Given the description of an element on the screen output the (x, y) to click on. 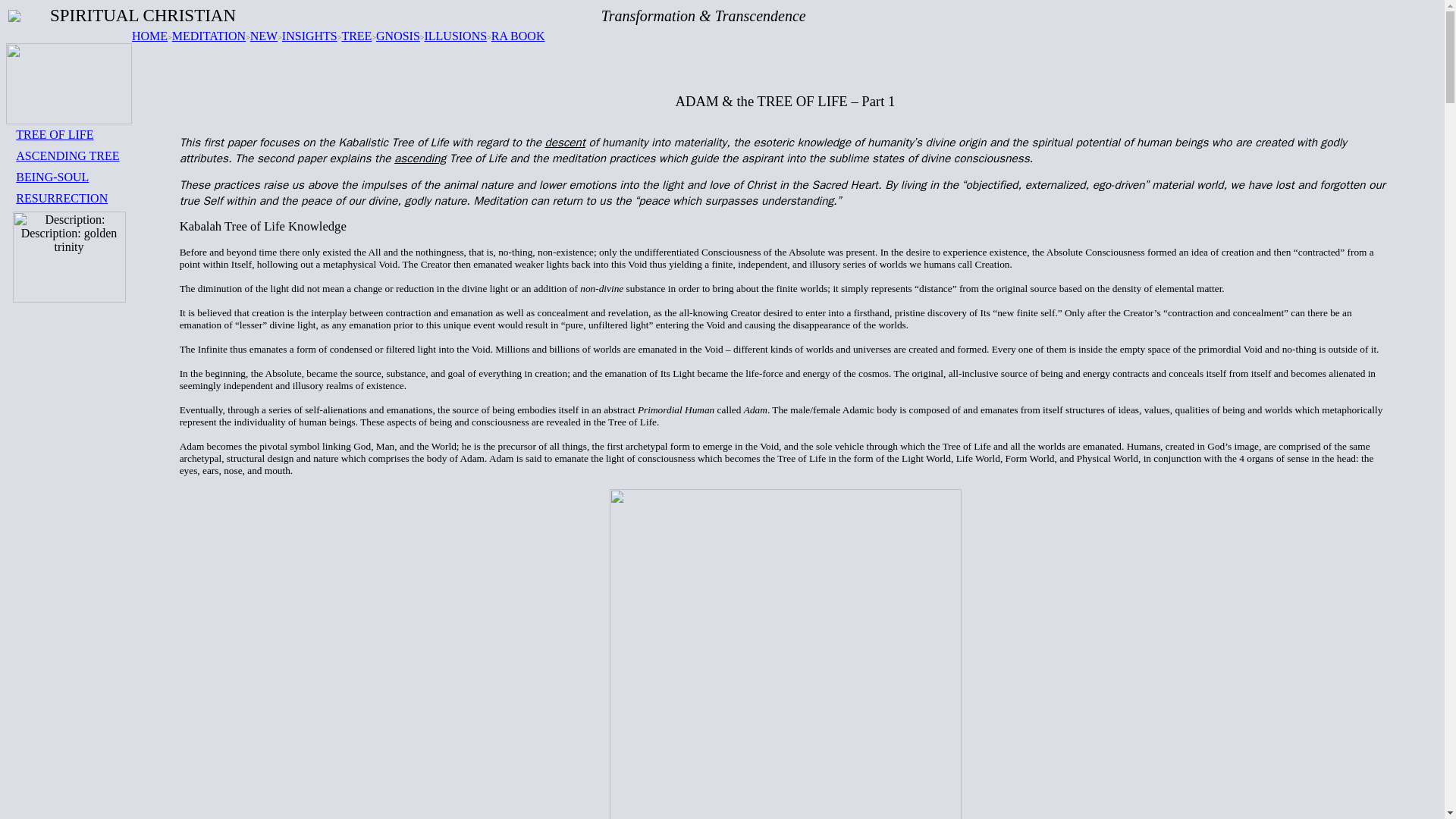
ASCENDING TREE (67, 155)
TREE OF LIFE (54, 133)
ILLUSIONS (454, 35)
INSIGHTS (309, 35)
HOME (149, 35)
RESURRECTION (61, 197)
RA BOOK (518, 35)
NEW (264, 35)
MEDITATION (208, 35)
TREE (355, 35)
